Given the description of an element on the screen output the (x, y) to click on. 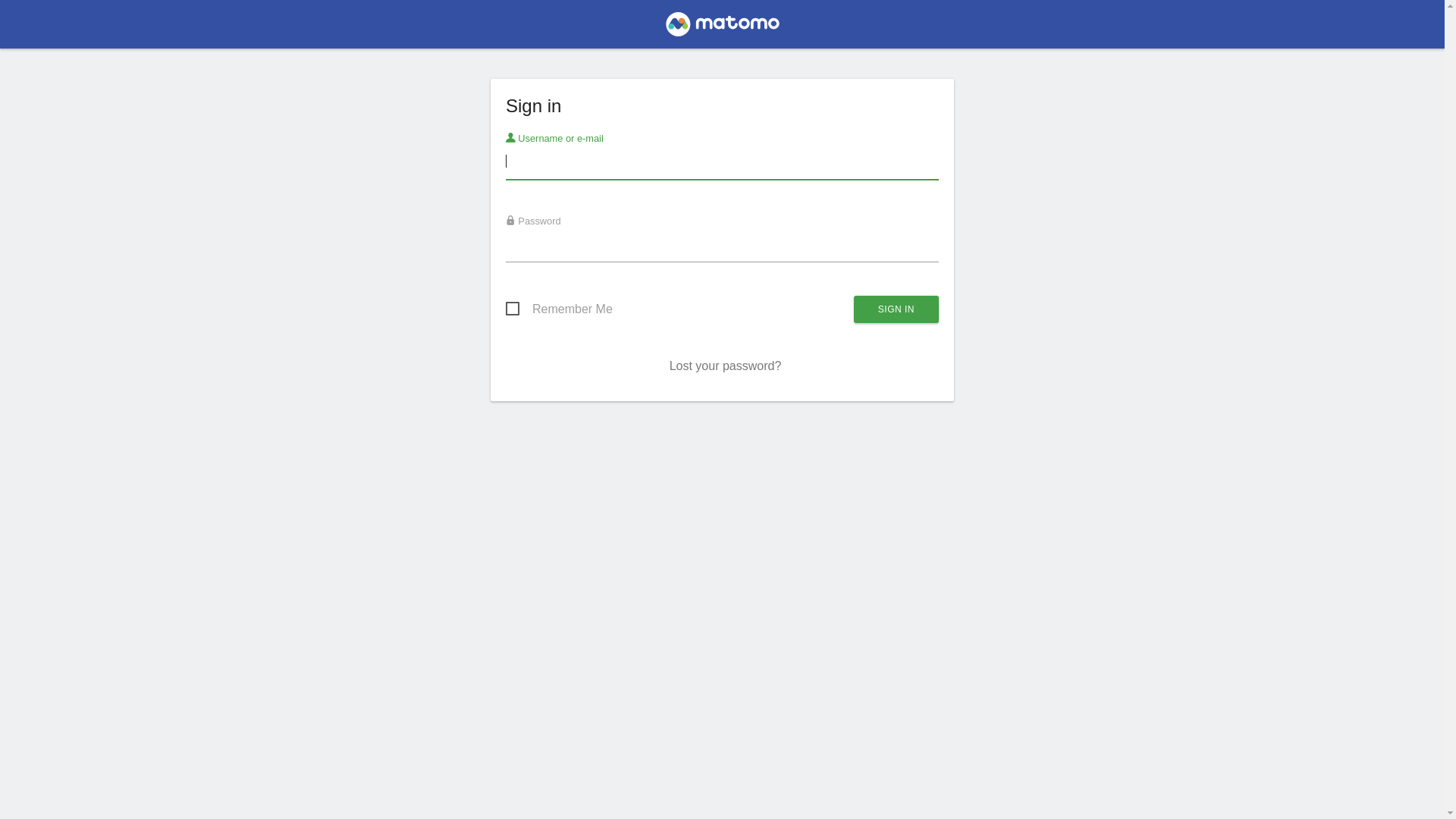
Lost your password? Element type: text (725, 365)
Matomo # free/libre analytics platform Element type: hover (722, 27)
Sign in Element type: text (895, 309)
